Given the description of an element on the screen output the (x, y) to click on. 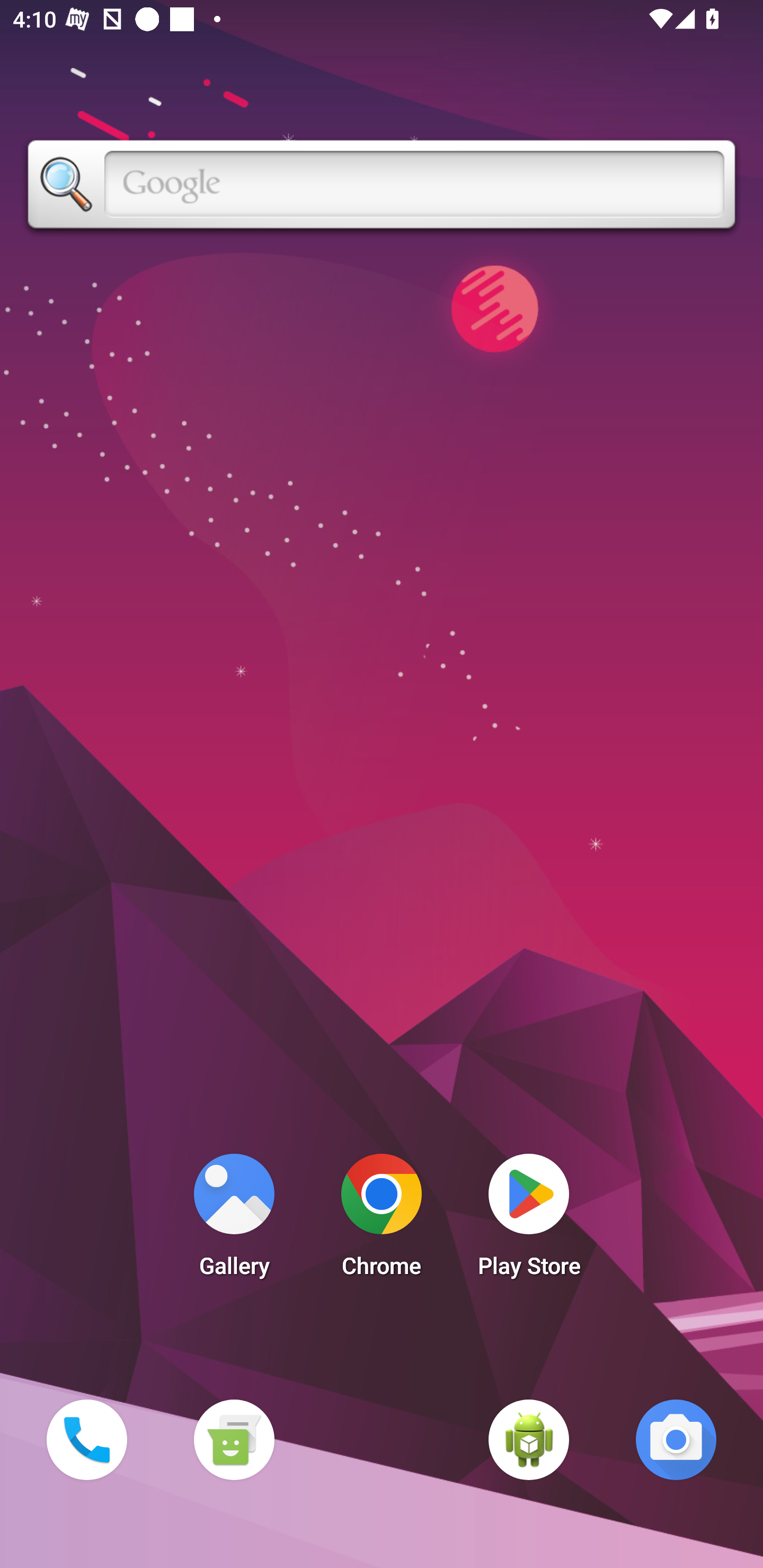
Gallery (233, 1220)
Chrome (381, 1220)
Play Store (528, 1220)
Phone (86, 1439)
Messaging (233, 1439)
WebView Browser Tester (528, 1439)
Camera (676, 1439)
